Given the description of an element on the screen output the (x, y) to click on. 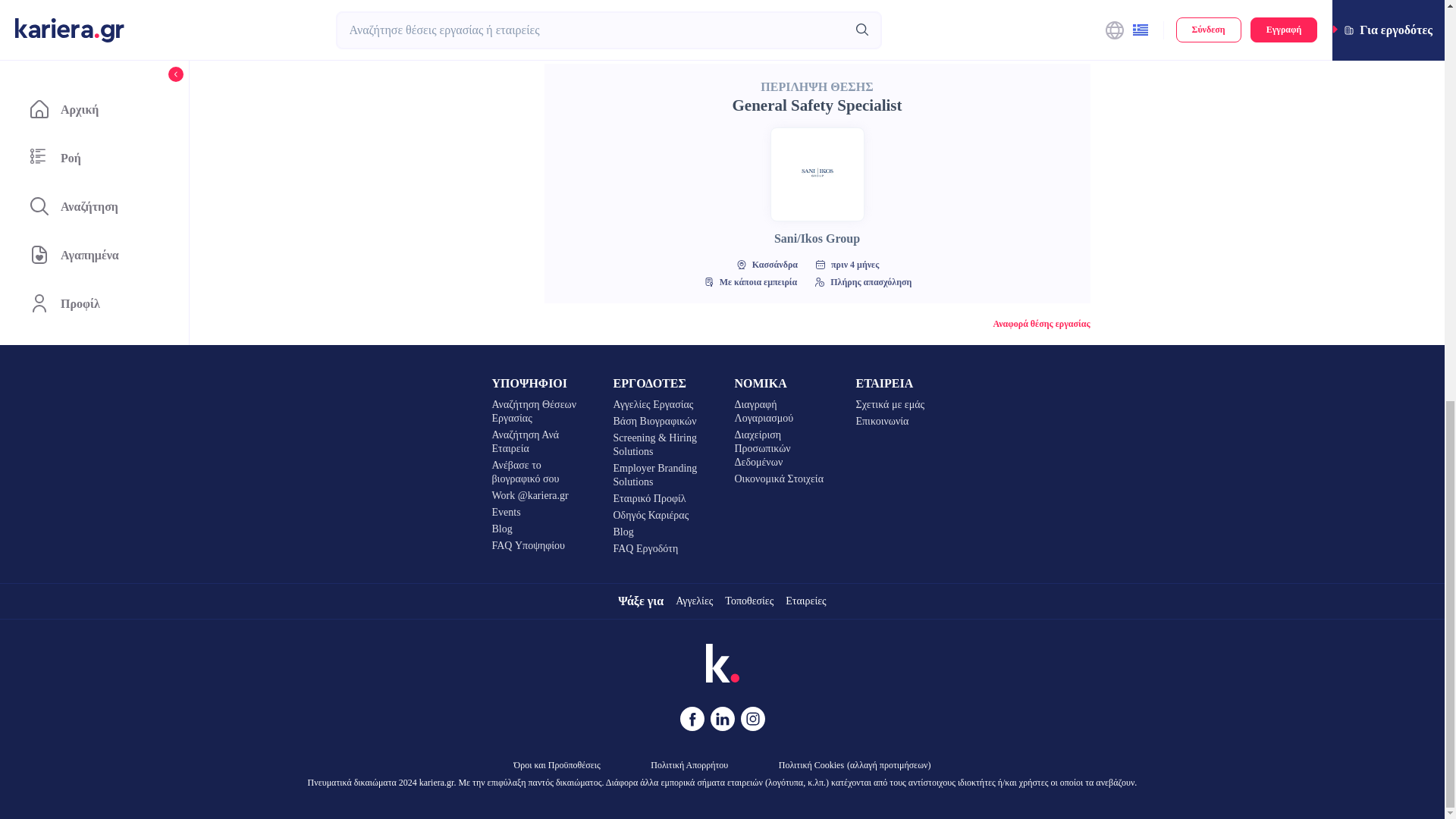
Blog (540, 529)
engineering, safety policies, construction, emergency plans (661, 38)
Employer Branding Solutions (661, 474)
Blog (661, 531)
Events (540, 512)
